Given the description of an element on the screen output the (x, y) to click on. 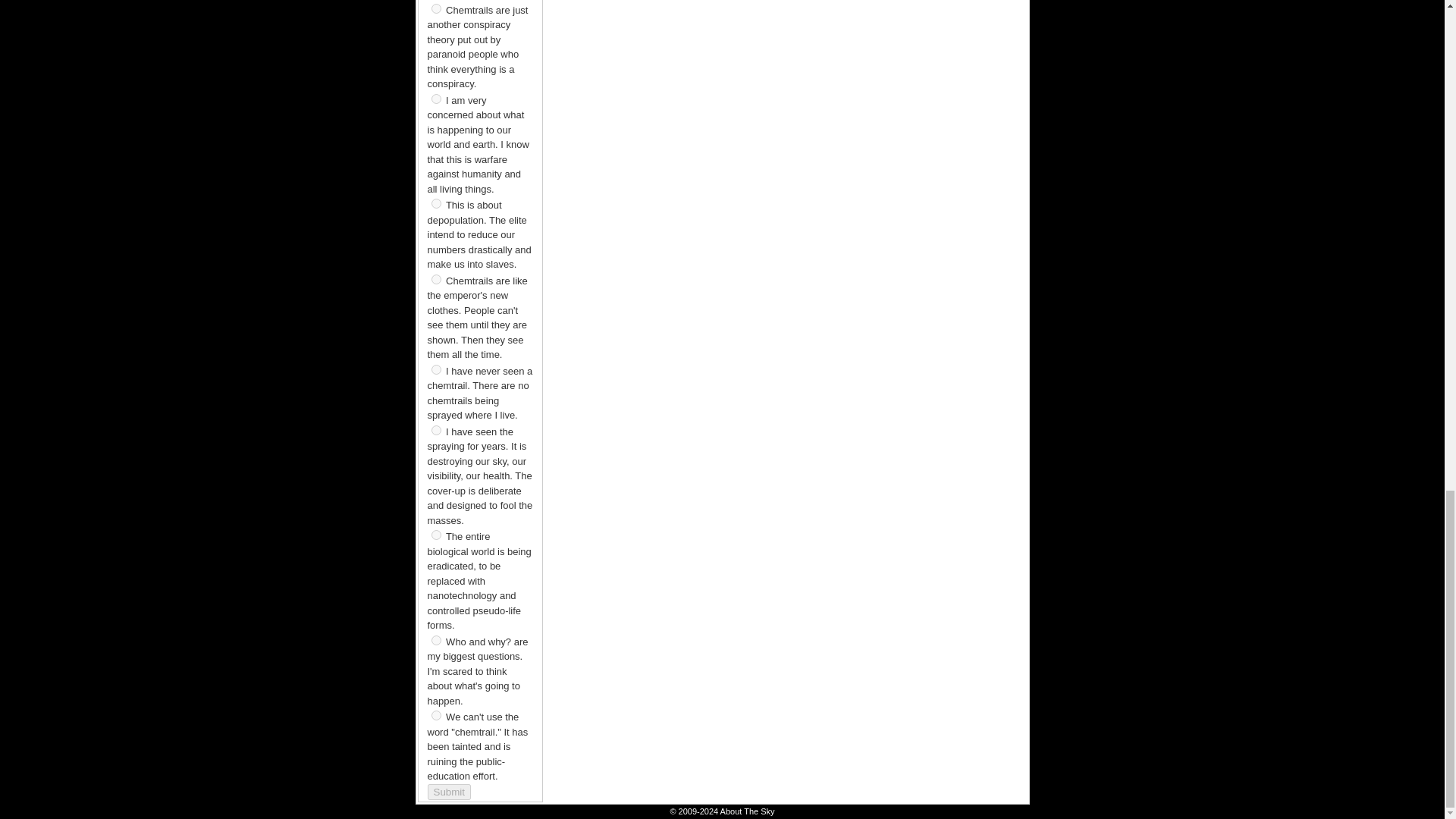
3 (435, 8)
9 (435, 534)
7 (435, 369)
10 (435, 640)
6 (435, 279)
5 (435, 203)
Submit (449, 791)
8 (435, 429)
11 (435, 715)
4 (435, 99)
Submit (449, 791)
